Given the description of an element on the screen output the (x, y) to click on. 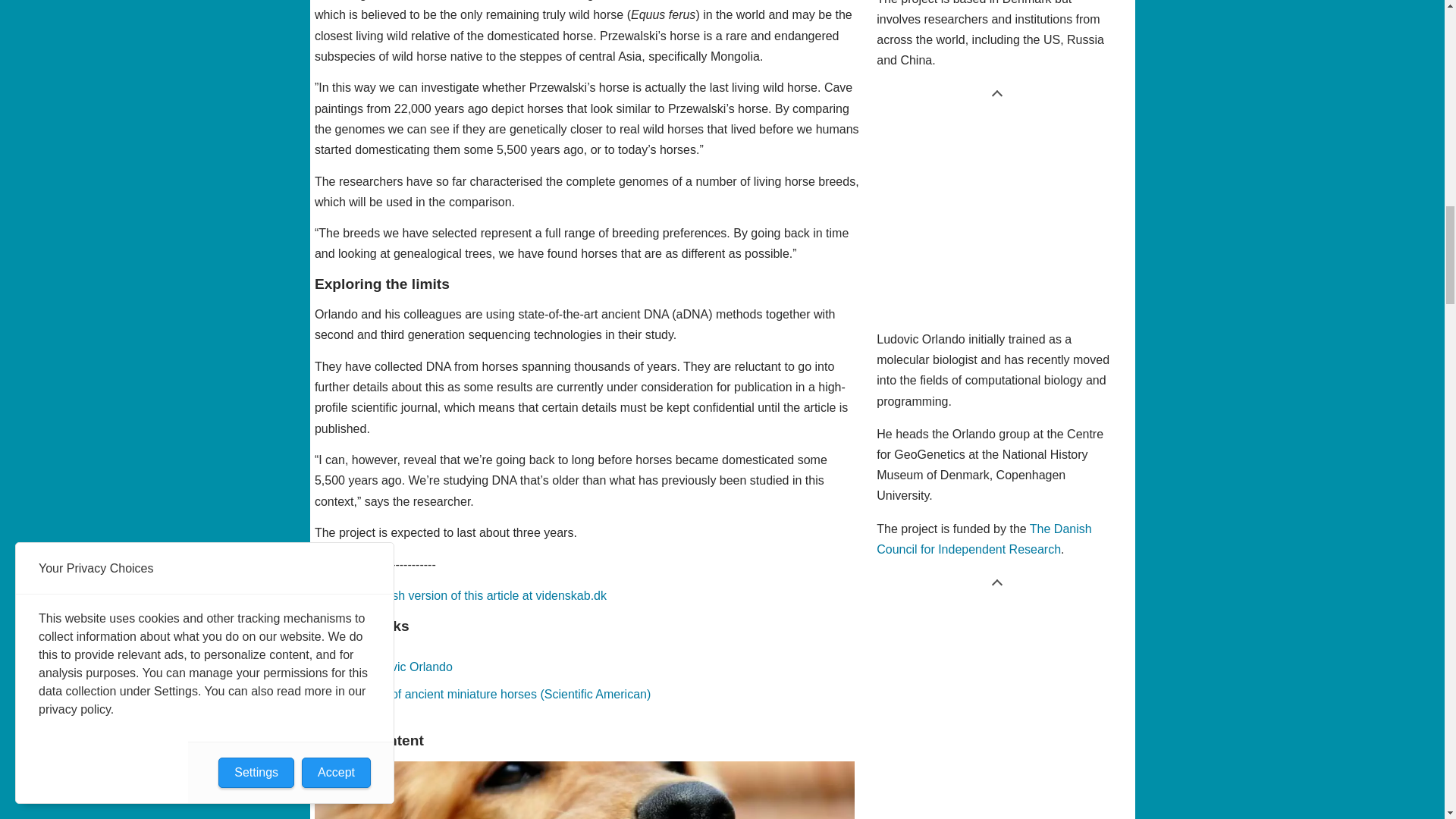
DNA reveals new picture of dog origins (585, 790)
Read the Danish version of this article at videnskab.dk (460, 594)
About Ludovic Orlando (390, 666)
The Danish Council for Independent Research (983, 539)
